Given the description of an element on the screen output the (x, y) to click on. 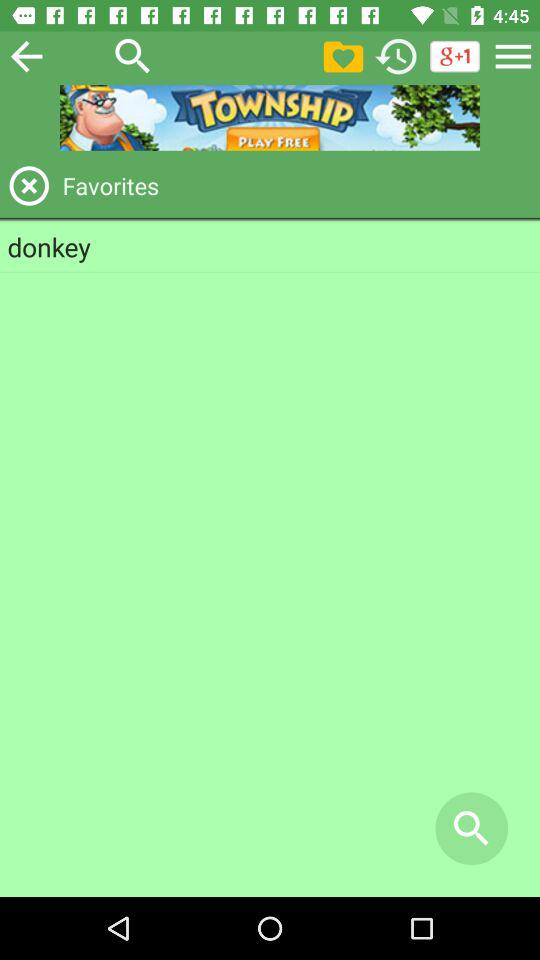
go back (513, 56)
